Given the description of an element on the screen output the (x, y) to click on. 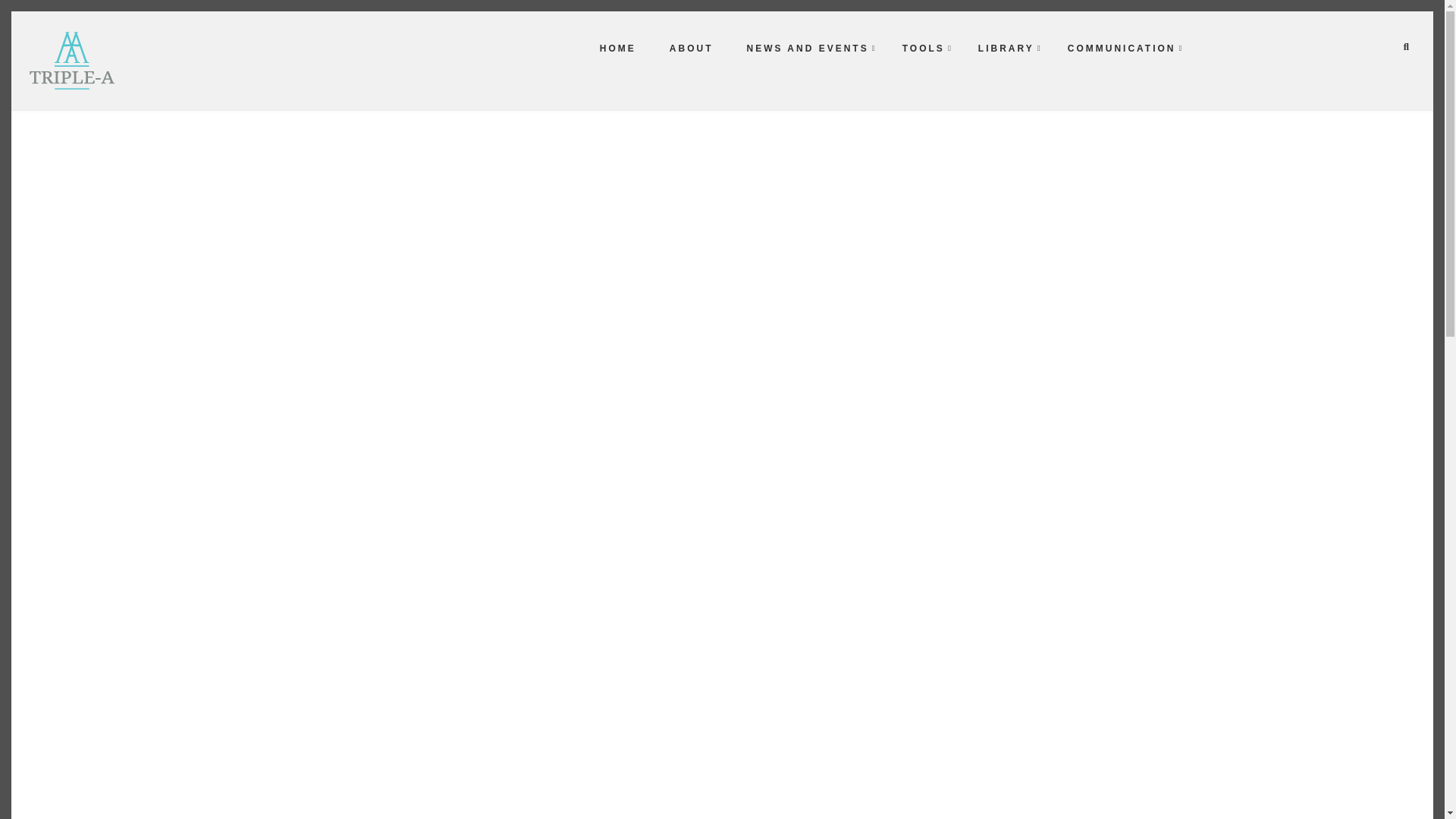
COMMUNICATION (1121, 47)
Home (71, 59)
ABOUT (691, 47)
LIBRARY (1005, 47)
NEWS AND EVENTS (806, 47)
HOME (617, 47)
TOOLS (923, 47)
